Given the description of an element on the screen output the (x, y) to click on. 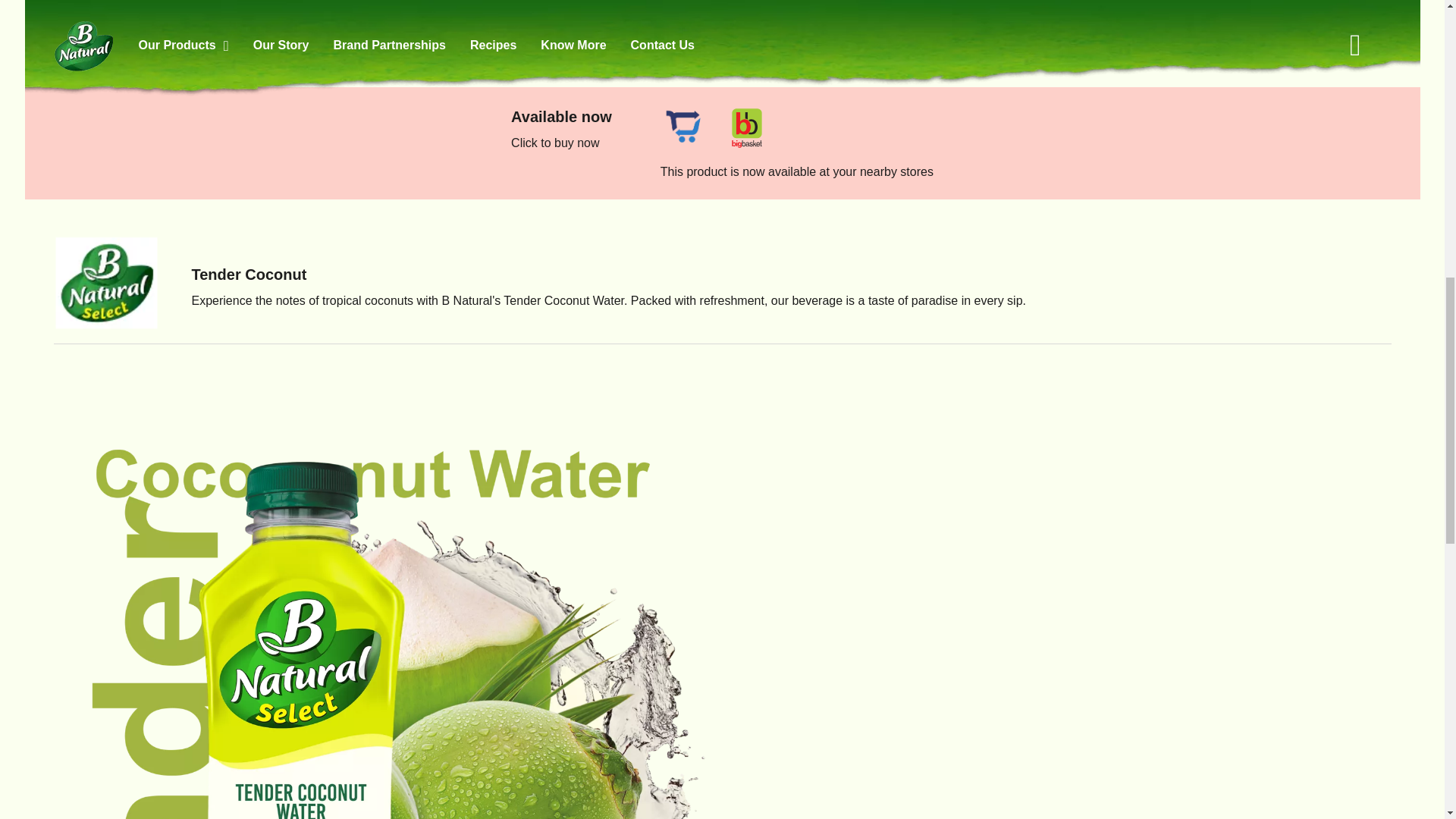
logo (109, 286)
